Given the description of an element on the screen output the (x, y) to click on. 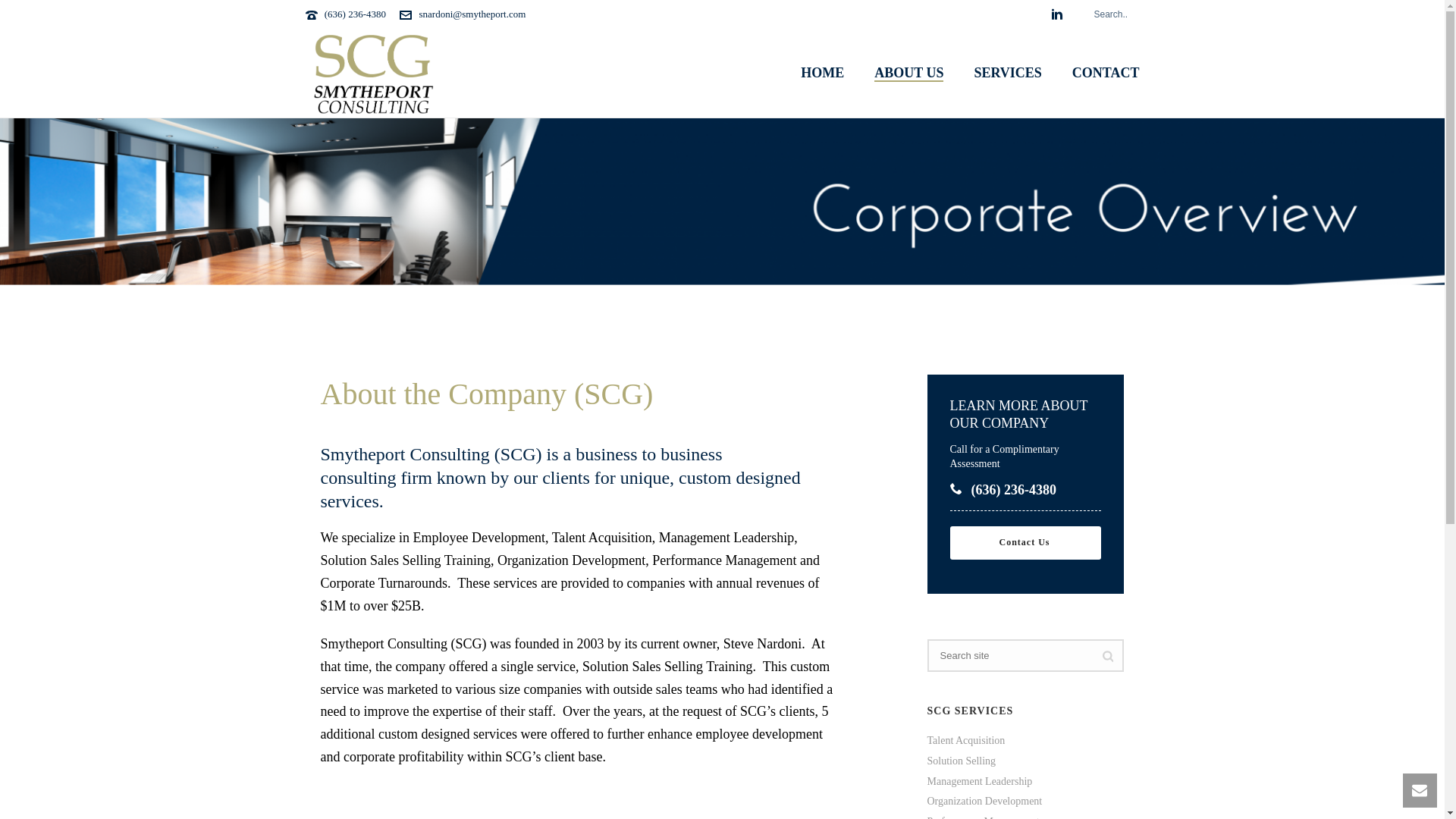
Business Consulting in St. Louis (371, 71)
Talent Acquisition (601, 537)
Organization Development (570, 560)
CONTACT (1105, 72)
Contact Us (1024, 542)
SERVICES (1007, 72)
CONTACT (1105, 72)
Management Leadership (726, 537)
ABOUT US (908, 72)
HOME (822, 72)
